Given the description of an element on the screen output the (x, y) to click on. 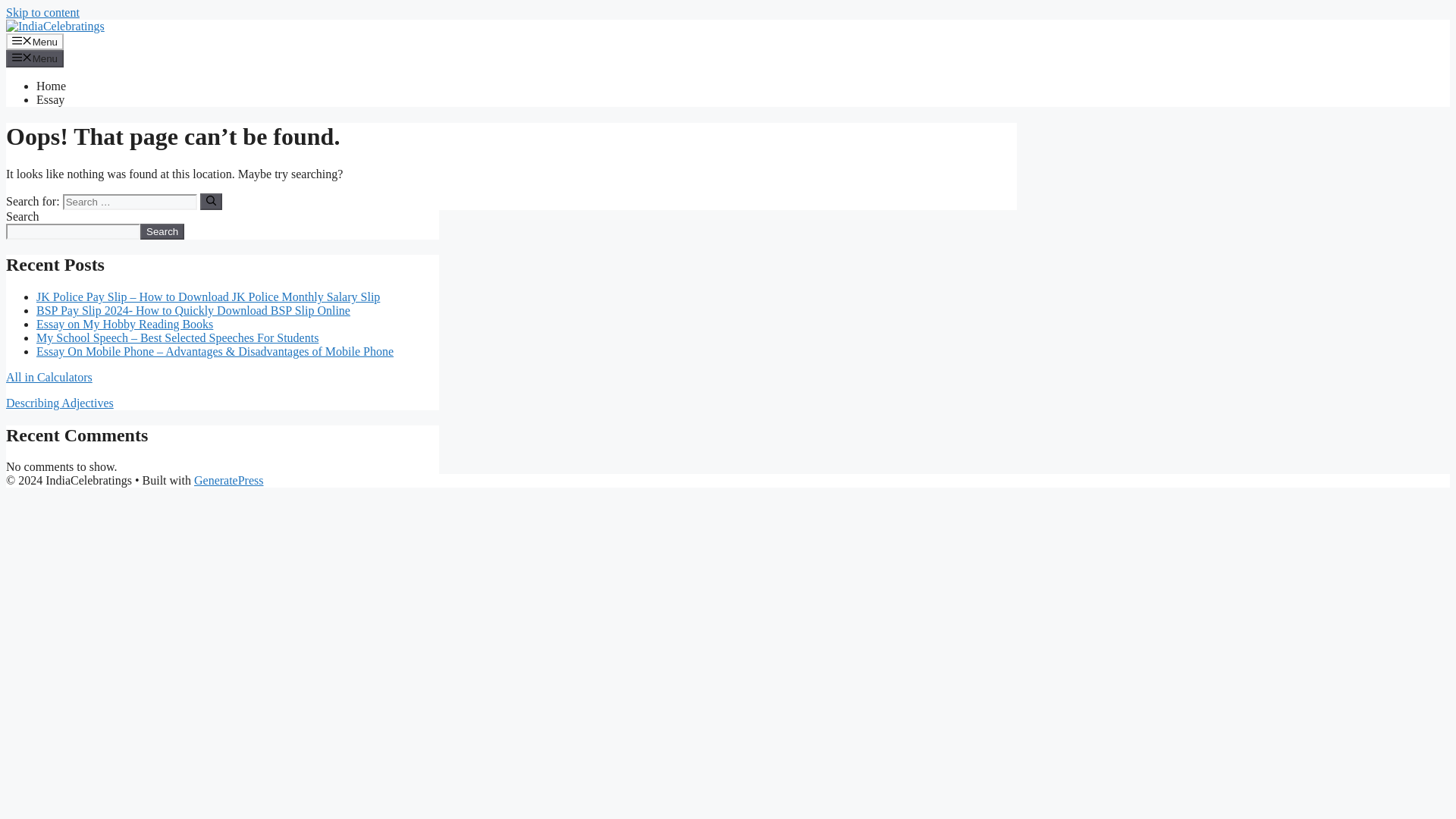
All in Calculators (49, 377)
Search for: (129, 201)
BSP Pay Slip 2024- How to Quickly Download BSP Slip Online (193, 309)
Skip to content (42, 11)
Describing Adjectives (59, 402)
Essay on My Hobby Reading Books (124, 323)
Search (161, 231)
Menu (34, 57)
Essay (50, 99)
Menu (34, 41)
Skip to content (42, 11)
Home (50, 85)
